Given the description of an element on the screen output the (x, y) to click on. 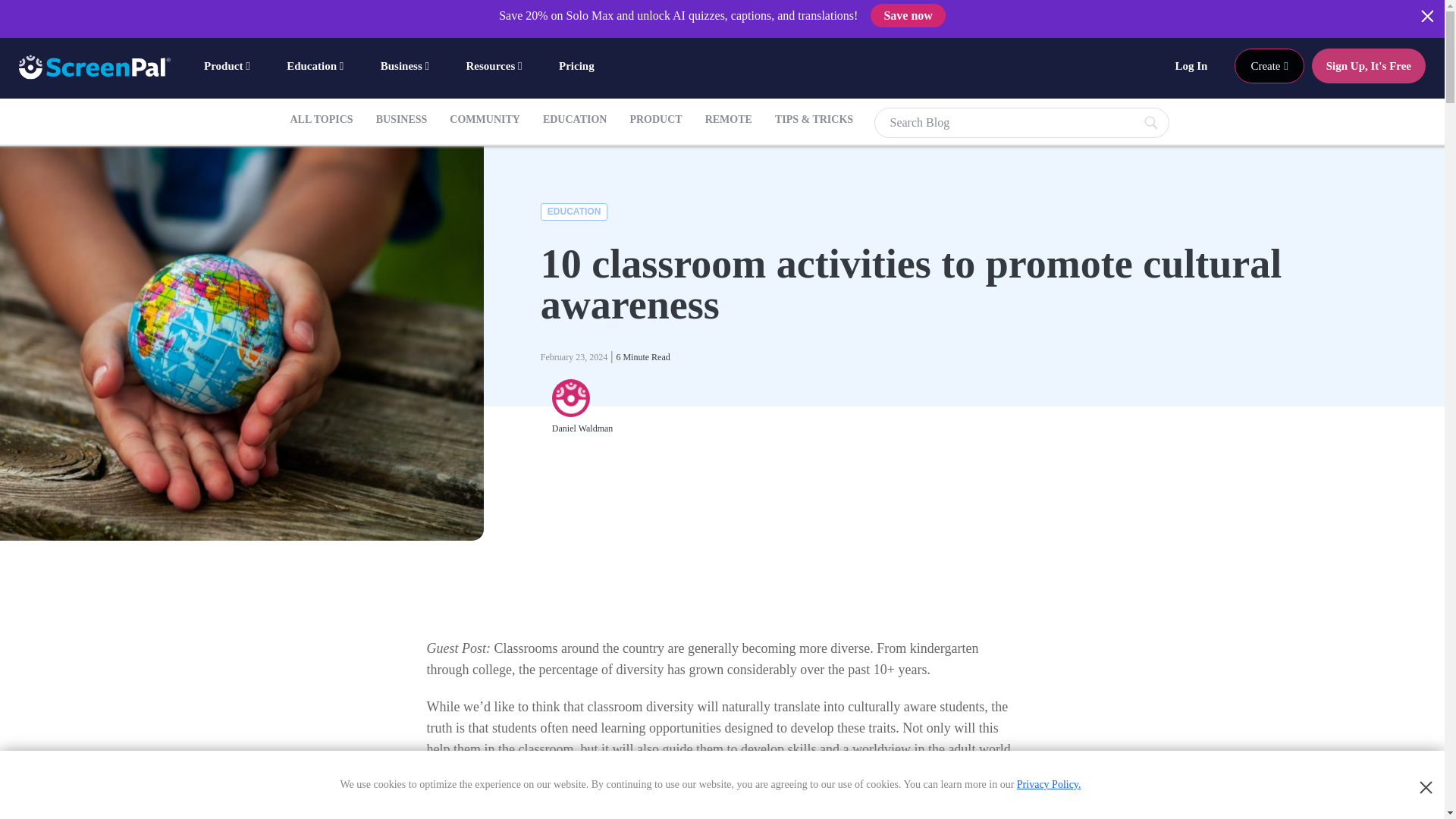
Save now (907, 15)
Sign Up, It's Free (1368, 65)
Education (316, 65)
Business (406, 65)
Product (228, 65)
Search (1021, 122)
Create (1268, 65)
Log In (1190, 65)
